Given the description of an element on the screen output the (x, y) to click on. 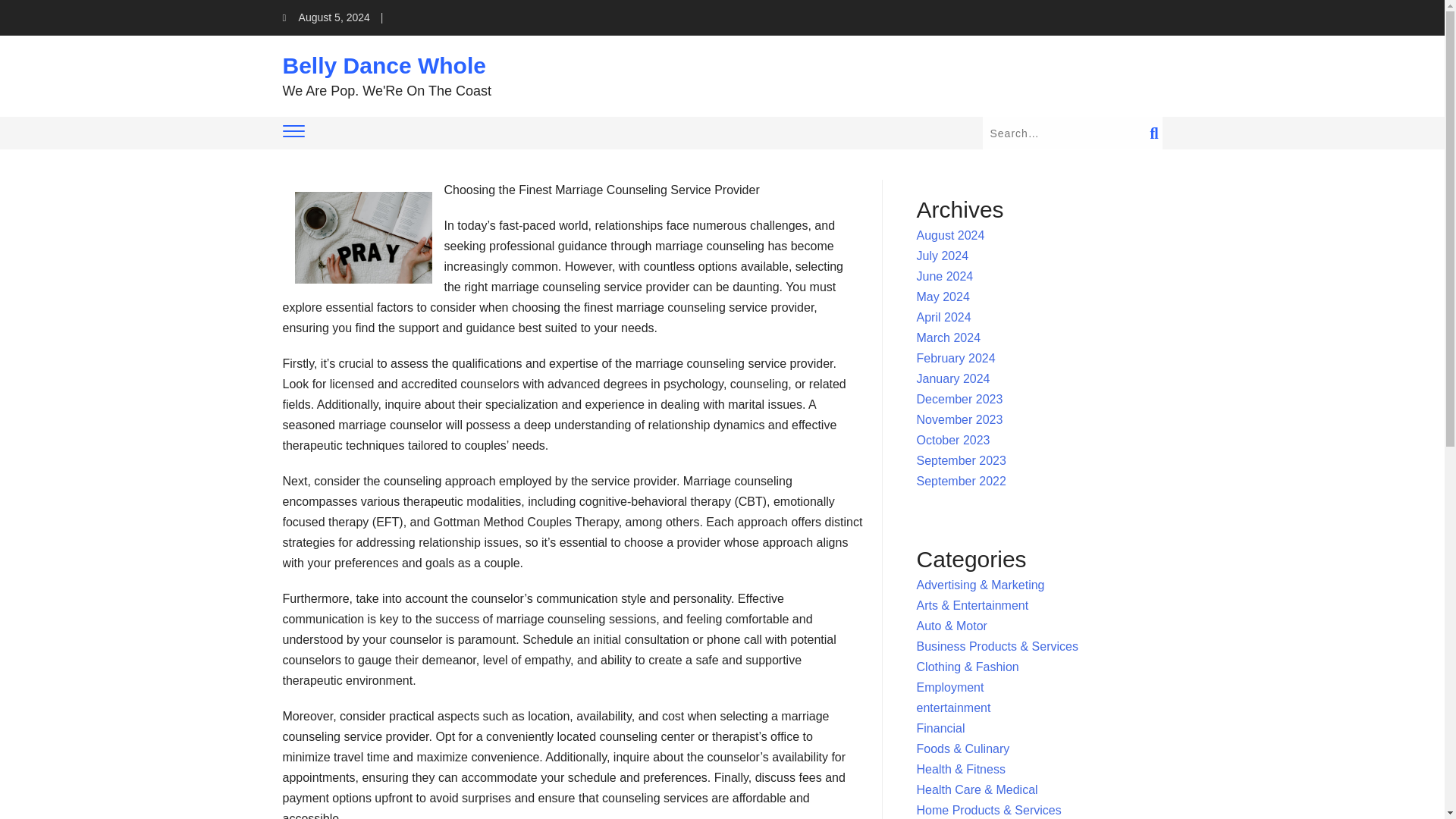
August 2024 (951, 235)
December 2023 (960, 399)
June 2024 (945, 276)
March 2024 (949, 337)
May 2024 (943, 296)
Belly Dance Whole (383, 65)
Financial (941, 727)
entertainment (954, 707)
October 2023 (953, 440)
January 2024 (953, 378)
September 2023 (961, 460)
September 2022 (961, 481)
April 2024 (944, 317)
November 2023 (960, 419)
February 2024 (956, 358)
